Given the description of an element on the screen output the (x, y) to click on. 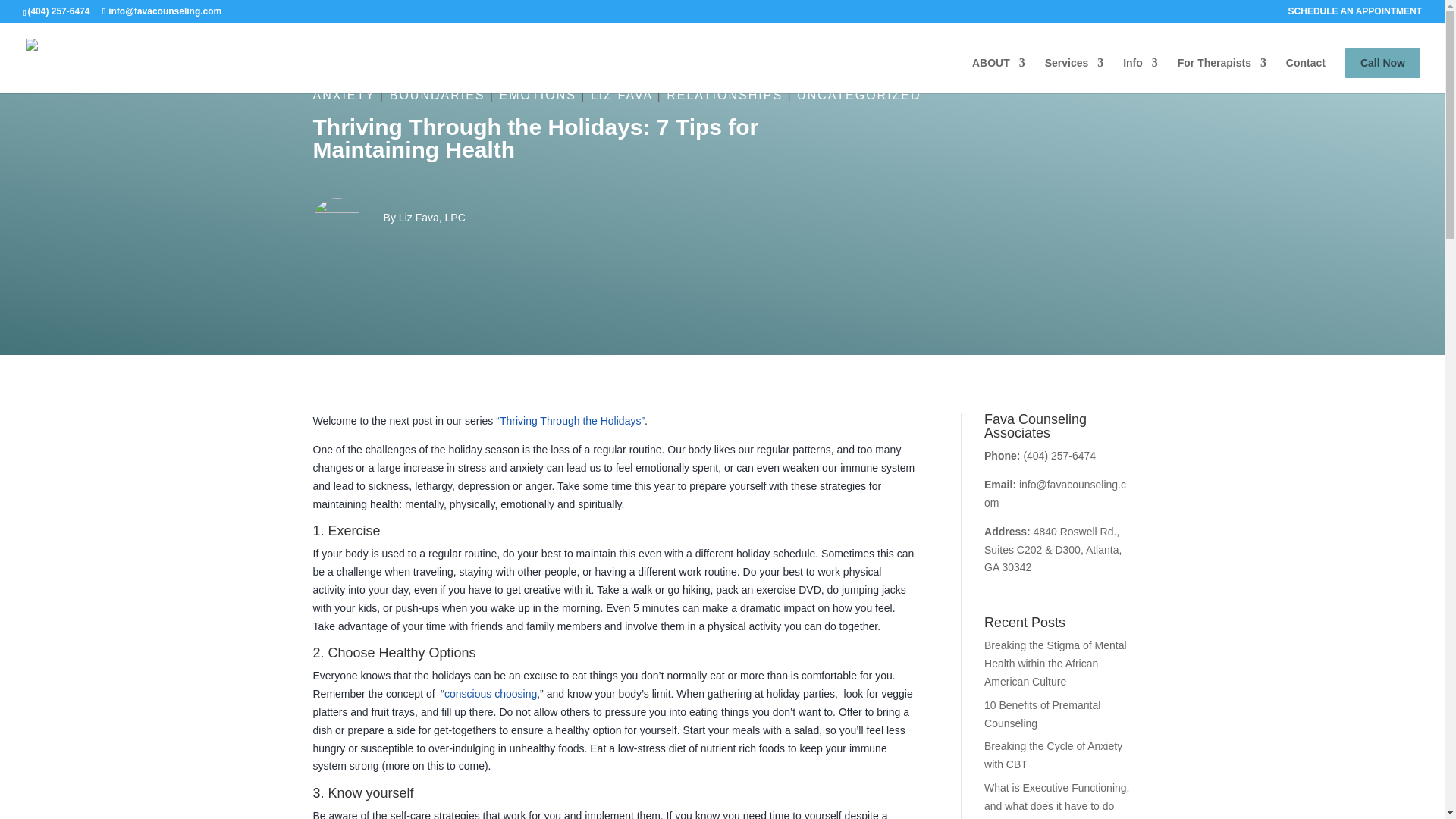
Contact (1304, 75)
SCHEDULE AN APPOINTMENT (1355, 14)
ABOUT (998, 75)
Services (1074, 75)
Info (1139, 75)
Thriving Through the Holidays (570, 420)
Call Now (1383, 62)
ANXIETY (343, 94)
Thriving Through the Holidays: Conscious Choosing (490, 693)
For Therapists (1221, 75)
